Given the description of an element on the screen output the (x, y) to click on. 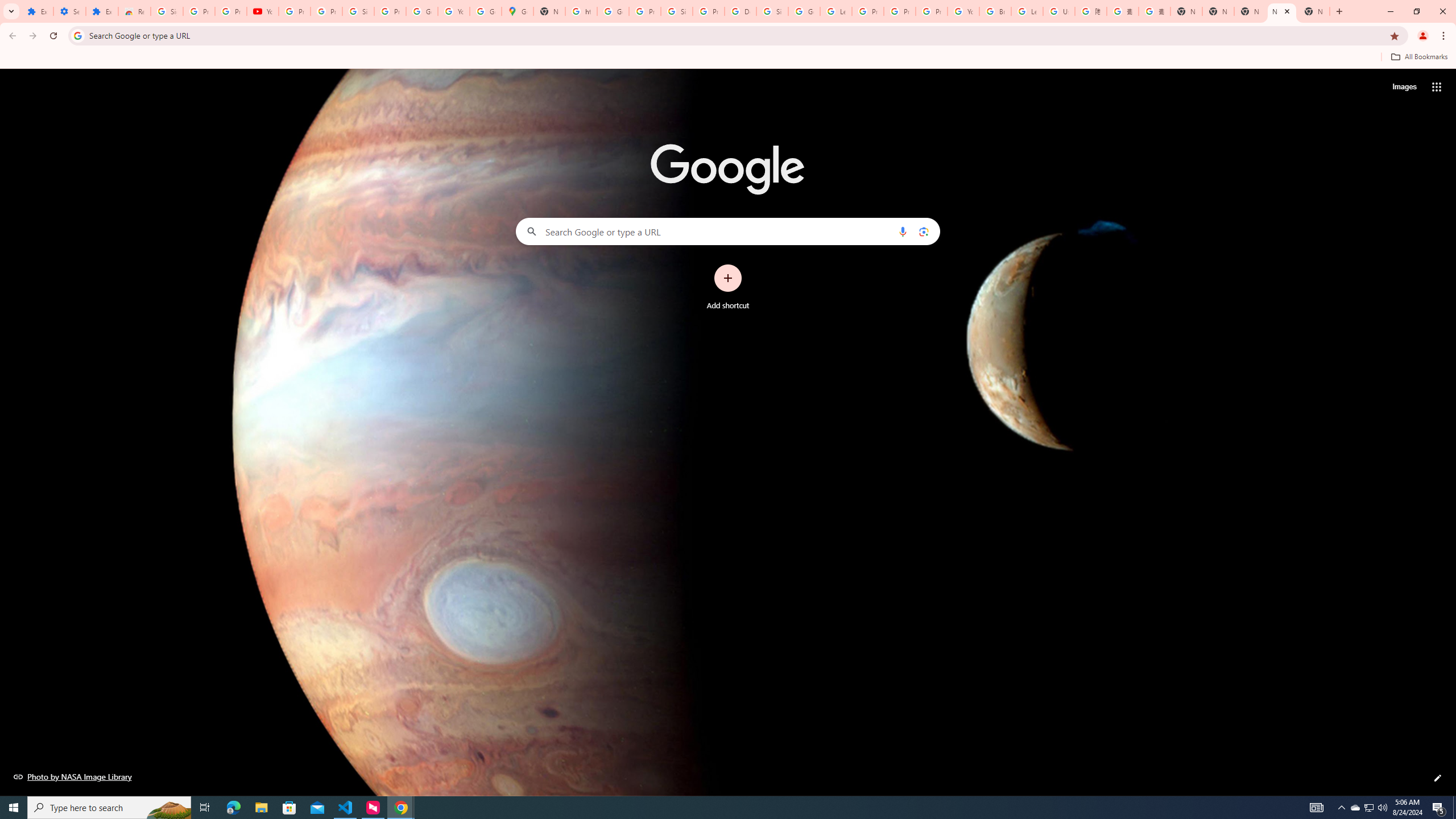
Reviews: Helix Fruit Jump Arcade Game (134, 11)
Customize this page (1437, 778)
New Tab (1313, 11)
Extensions (37, 11)
YouTube (963, 11)
